Given the description of an element on the screen output the (x, y) to click on. 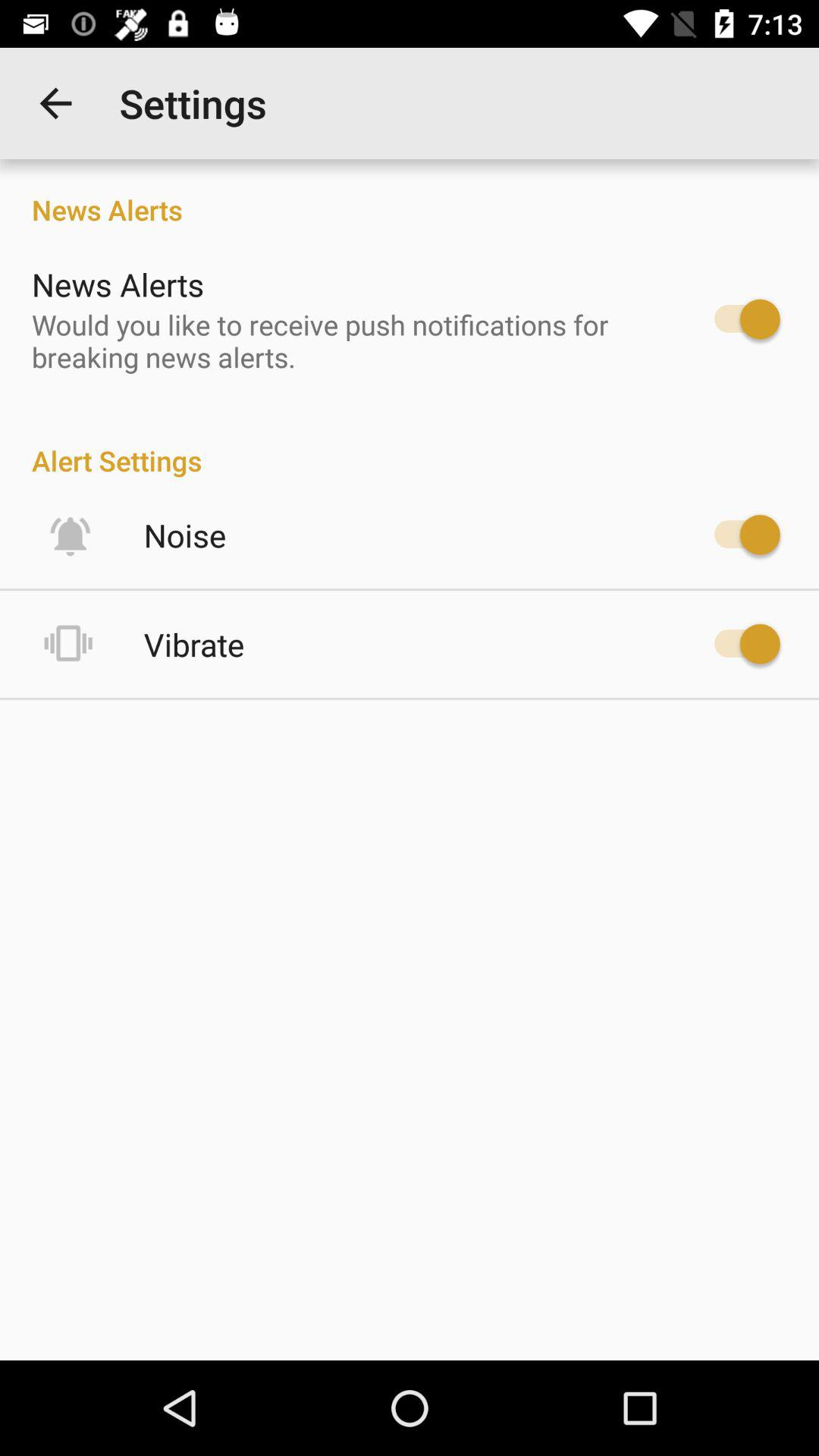
jump to vibrate icon (193, 644)
